Given the description of an element on the screen output the (x, y) to click on. 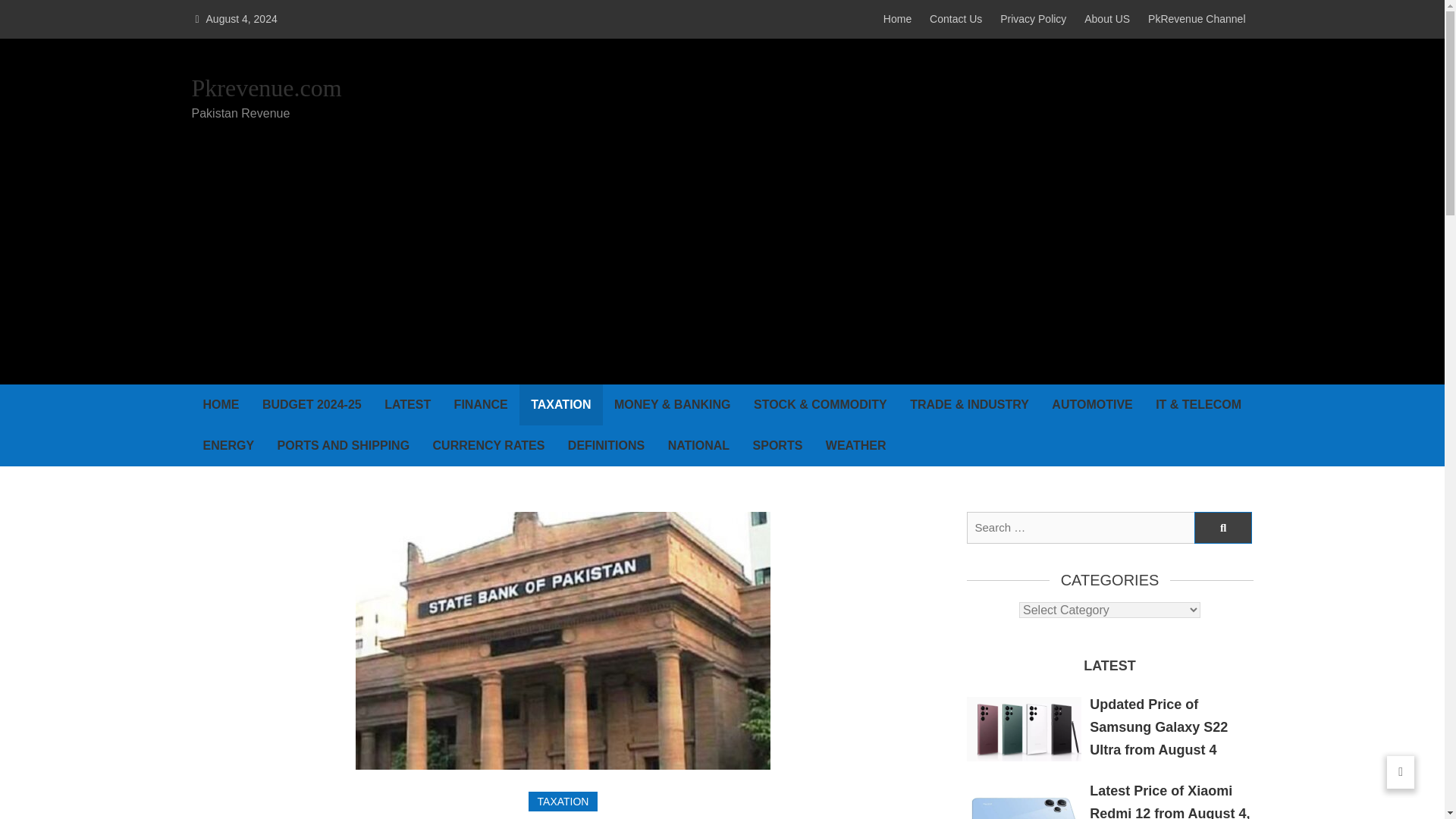
FINANCE (480, 404)
WEATHER (855, 445)
PORTS AND SHIPPING (344, 445)
Updated Price of Samsung Galaxy S22 Ultra from August 4 (1158, 726)
SPORTS (777, 445)
Pkrevenue.com (265, 88)
DEFINITIONS (606, 445)
ENERGY (227, 445)
CURRENCY RATES (489, 445)
Privacy Policy (1032, 19)
